Given the description of an element on the screen output the (x, y) to click on. 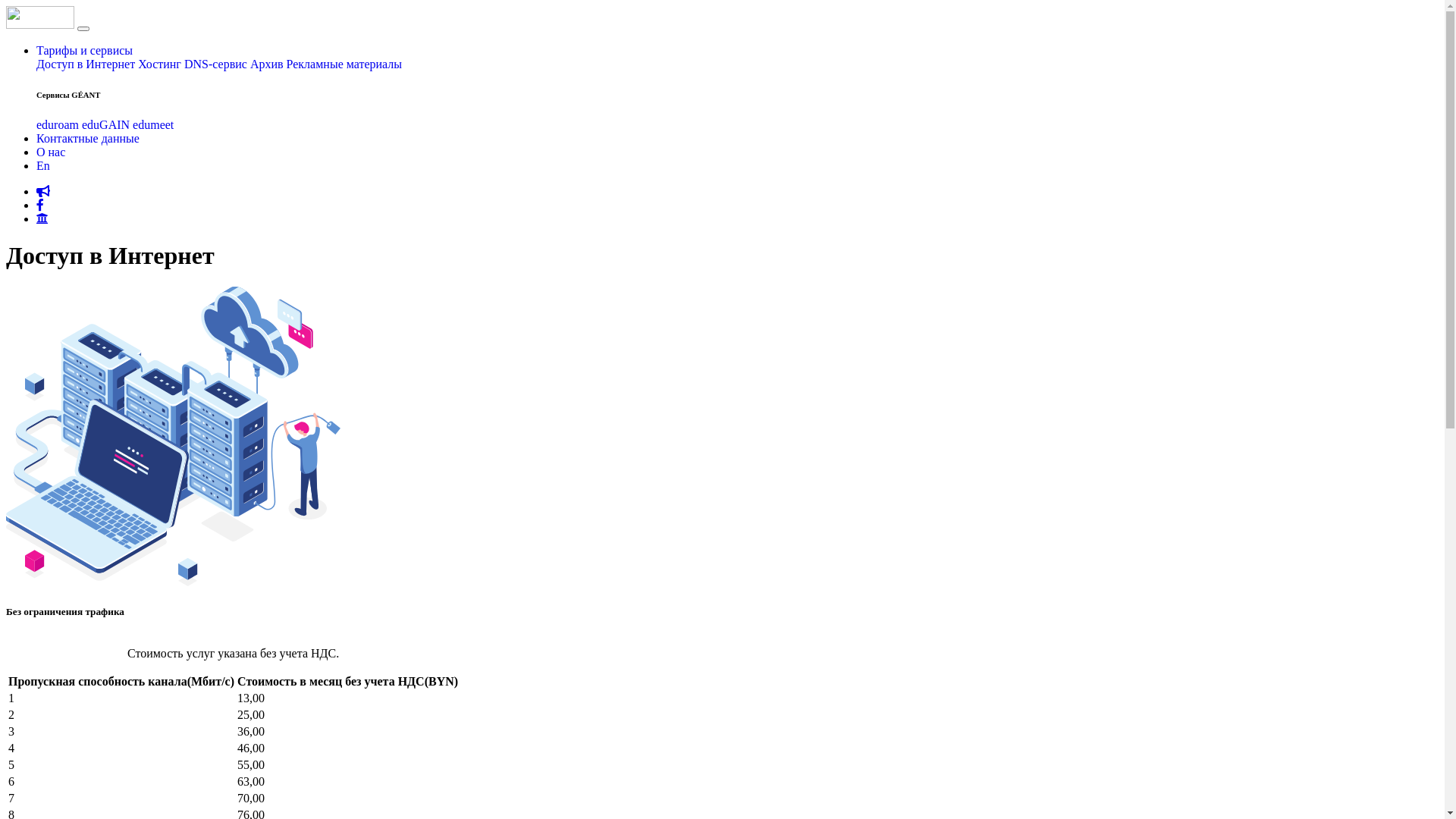
eduGAIN Element type: text (105, 124)
eduroam Element type: text (57, 124)
edumeet Element type: text (152, 124)
En Element type: text (43, 165)
